Given the description of an element on the screen output the (x, y) to click on. 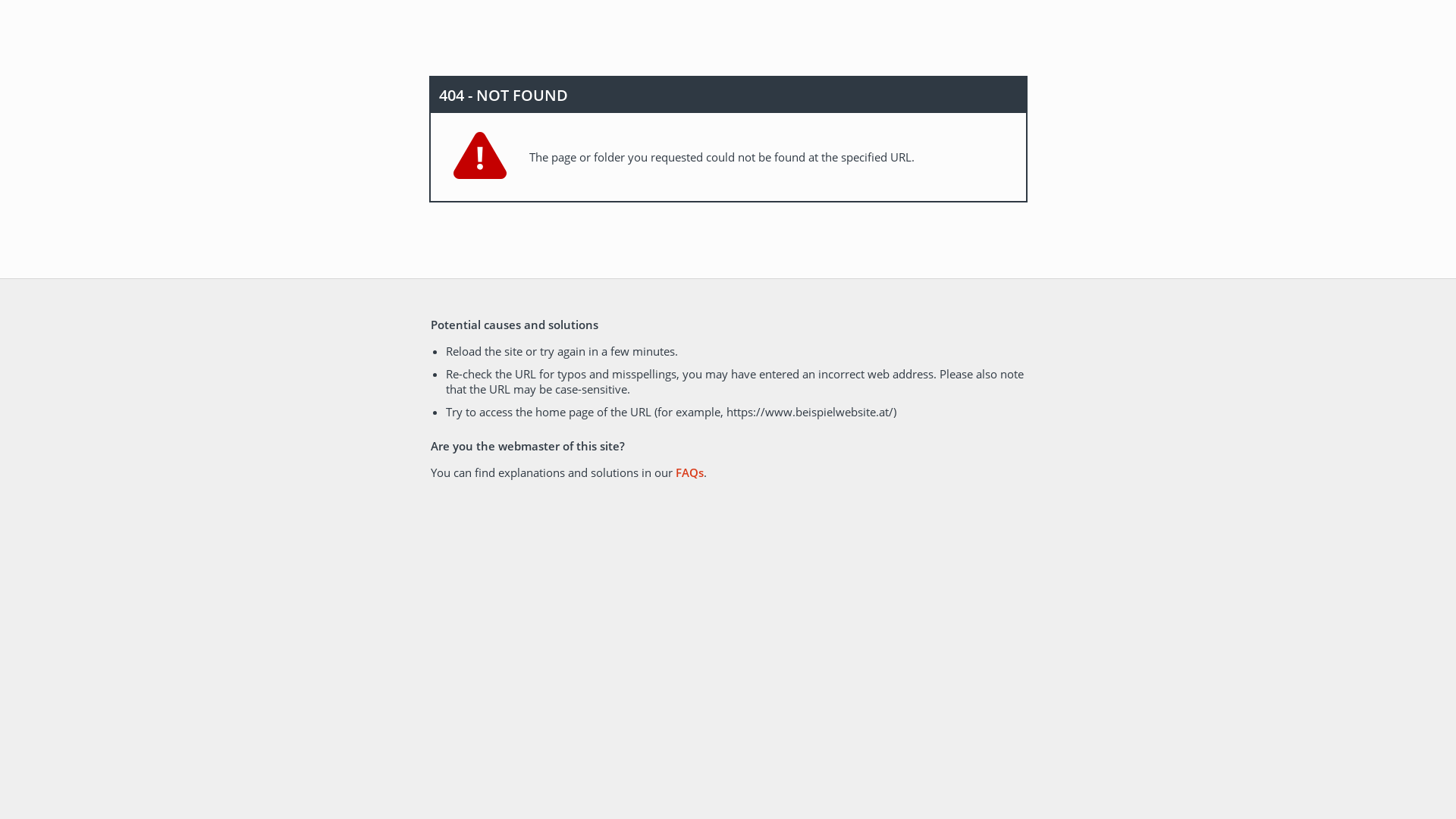
FAQs Element type: text (688, 472)
